Given the description of an element on the screen output the (x, y) to click on. 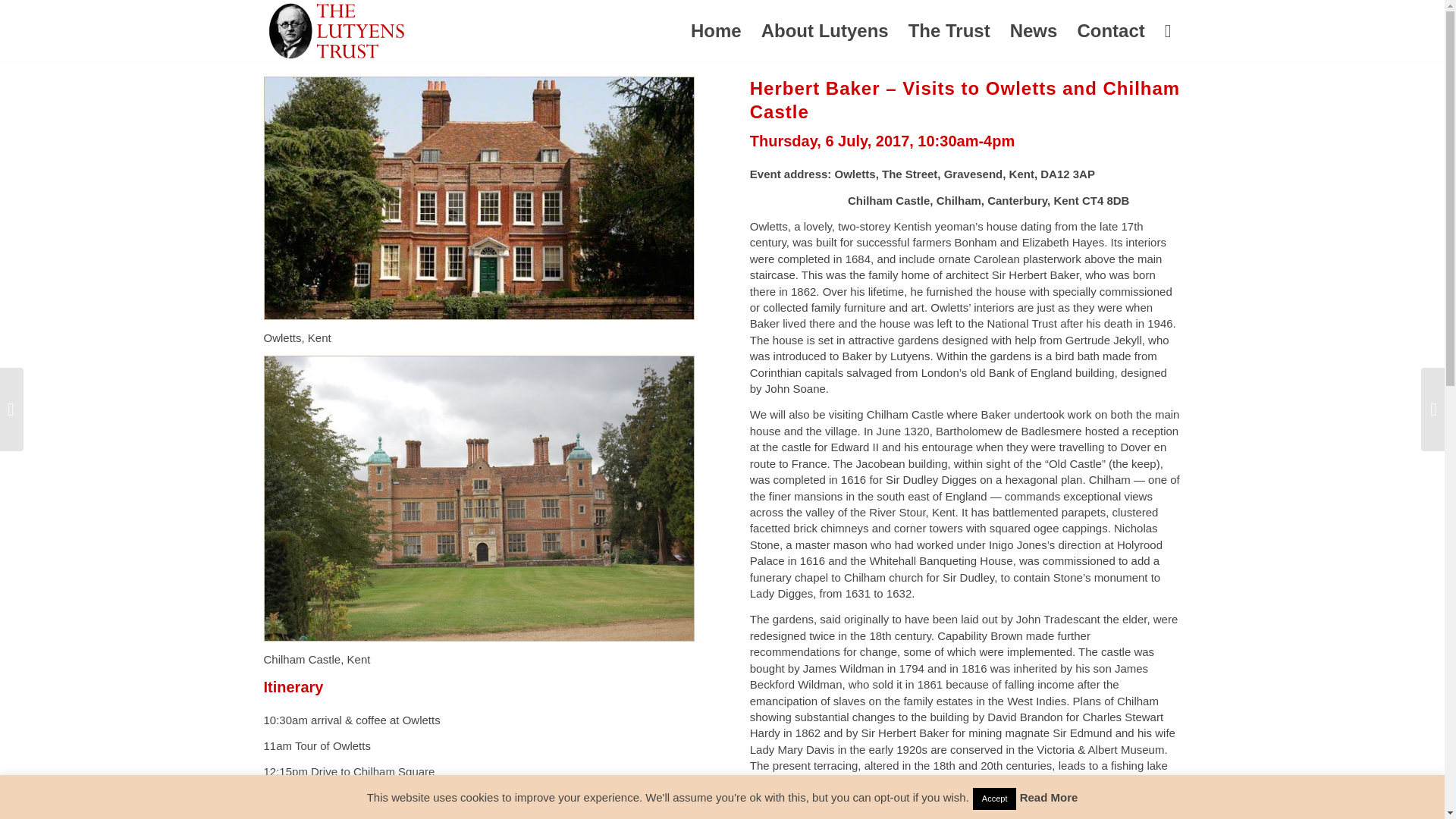
Lutyens-Trust-Logo (336, 30)
About Lutyens (824, 30)
Home (716, 30)
News (1033, 30)
Contact (1110, 30)
Chilham Castle (478, 498)
The Trust (949, 30)
owletts-3 (478, 197)
